Given the description of an element on the screen output the (x, y) to click on. 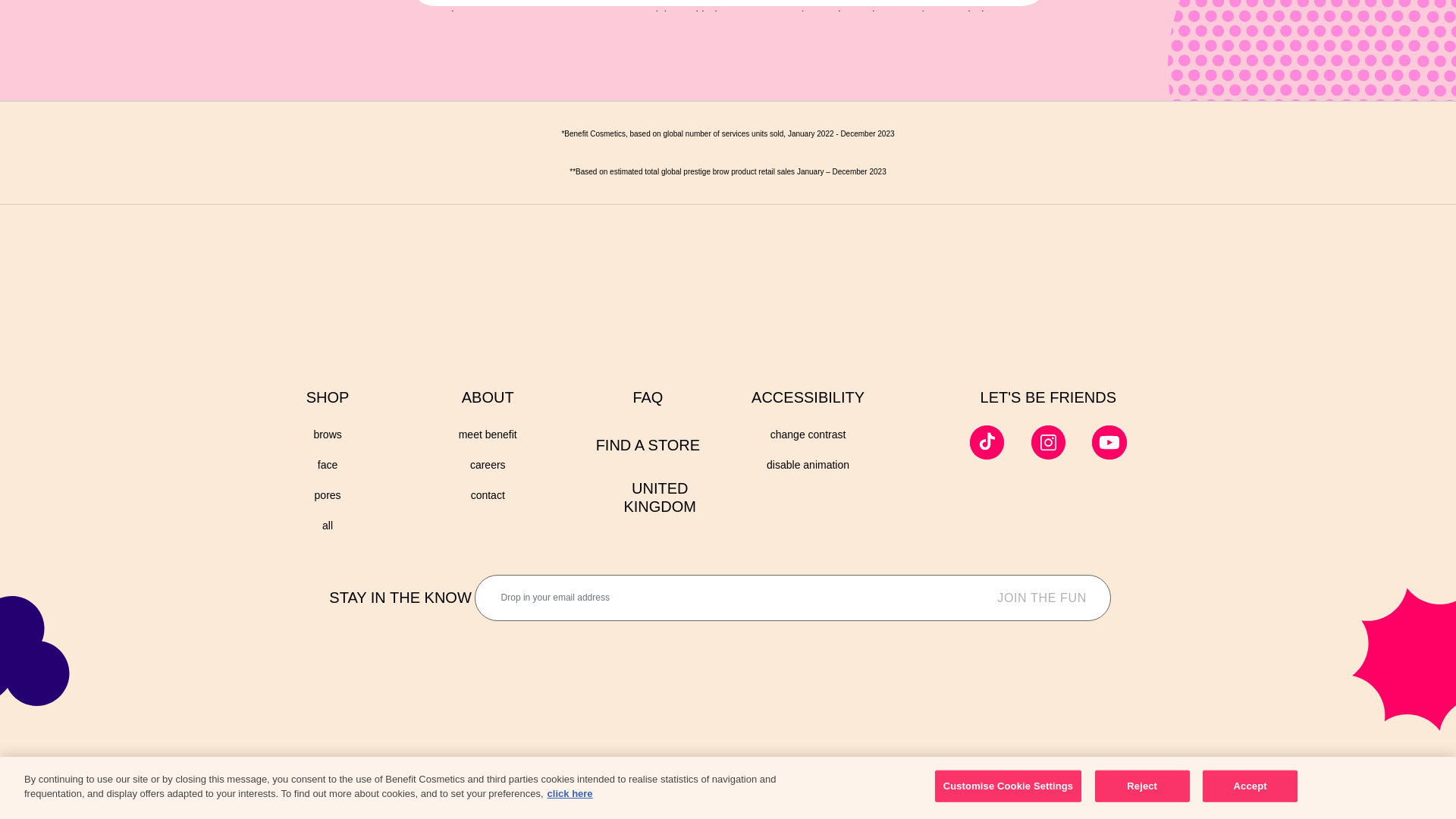
Tiktok (986, 442)
